Given the description of an element on the screen output the (x, y) to click on. 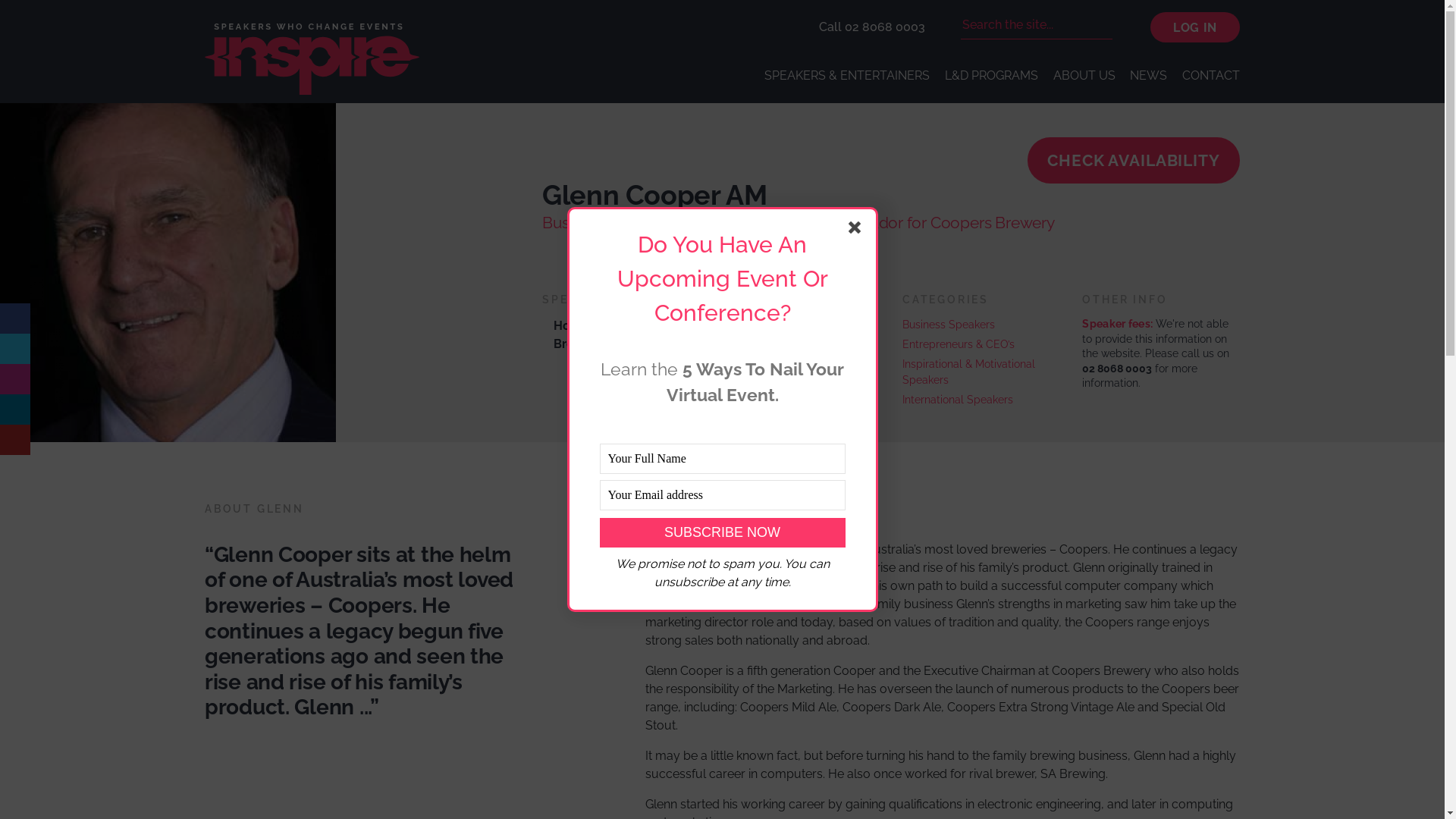
Inspirational & Motivational Speakers Element type: text (968, 371)
02 8068 0003 Element type: text (1116, 368)
CONTACT Element type: text (1207, 75)
ABOUT US Element type: text (1083, 75)
Close optin form Element type: hover (856, 230)
International Speakers Element type: text (957, 399)
Call 02 8068 0003 Element type: text (868, 27)
Take Action Now! Element type: text (153, 14)
Search for: Element type: hover (1036, 27)
CHECK AVAILABILITY Element type: text (1133, 160)
Subscribe Now Element type: text (721, 532)
LOG IN Element type: text (1194, 27)
SPEAKERS & ENTERTAINERS Element type: text (846, 75)
L&D PROGRAMS Element type: text (991, 75)
Business Speakers Element type: text (948, 324)
Inspire Speakers Element type: hover (457, 51)
NEWS Element type: text (1148, 75)
